Given the description of an element on the screen output the (x, y) to click on. 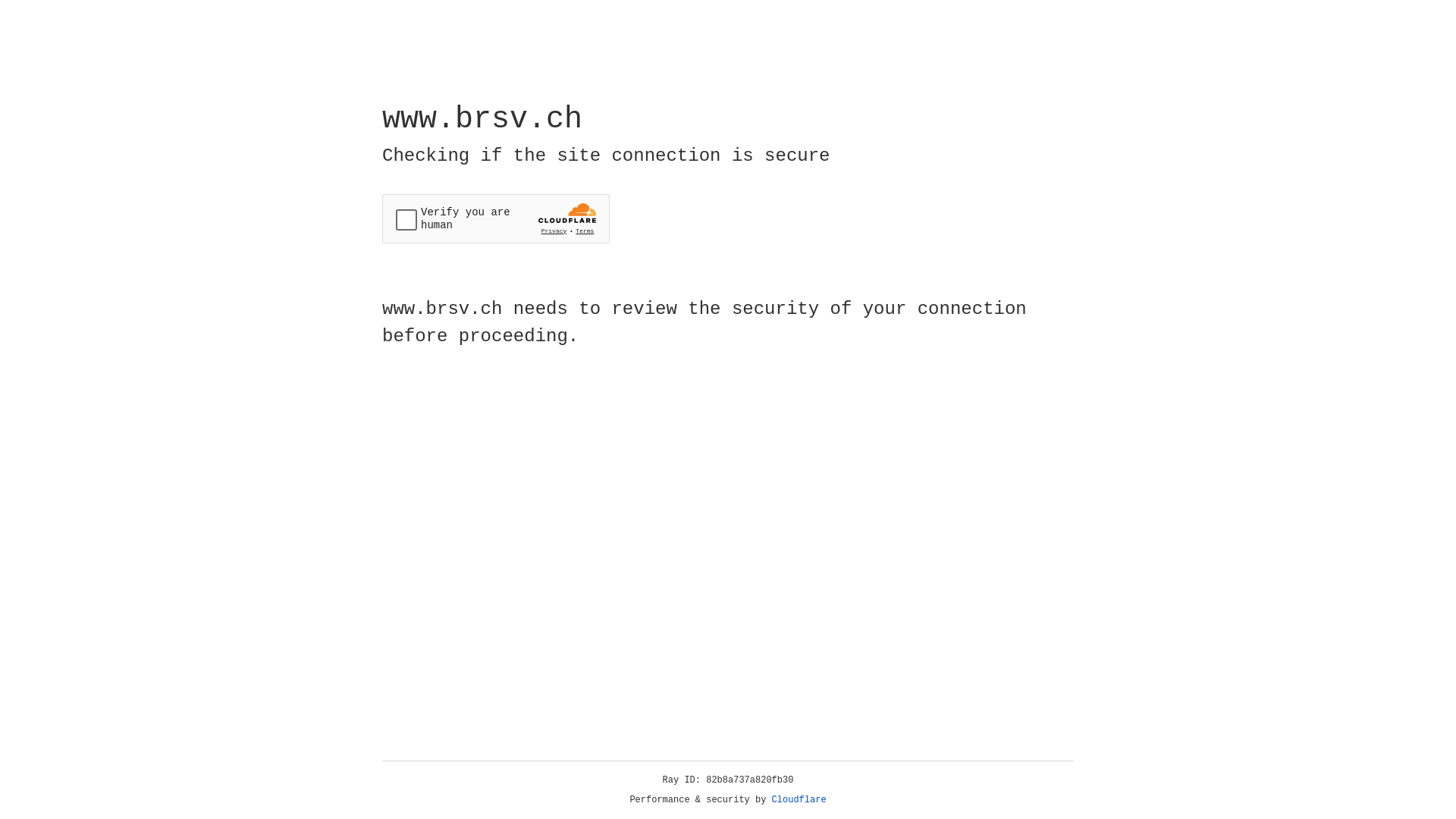
Cloudflare Element type: text (798, 799)
Widget containing a Cloudflare security challenge Element type: hover (495, 218)
